Given the description of an element on the screen output the (x, y) to click on. 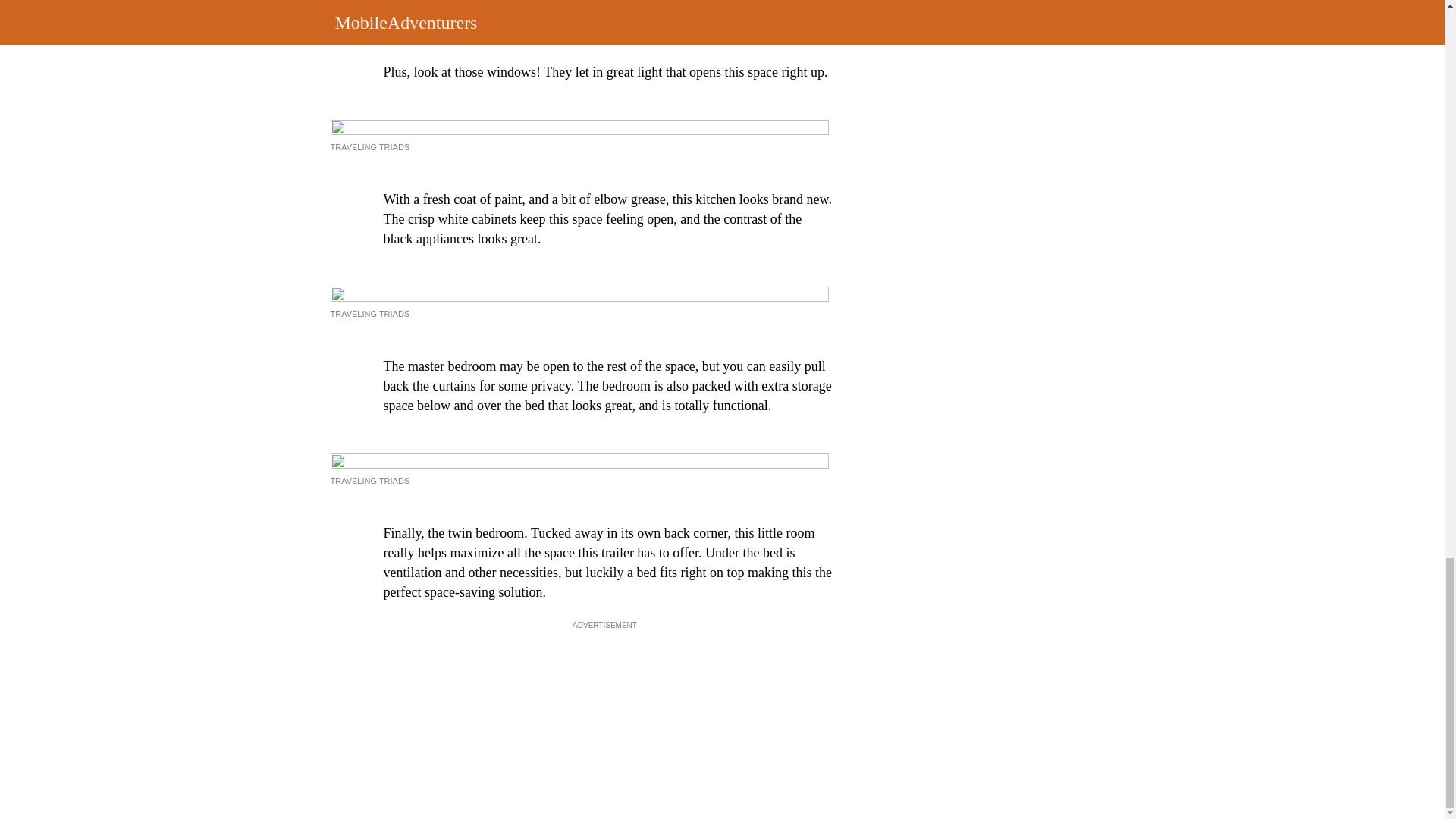
TRAVELING TRIADS (370, 480)
TRAVELING TRIADS (370, 146)
TRAVELING TRIADS (370, 313)
